Given the description of an element on the screen output the (x, y) to click on. 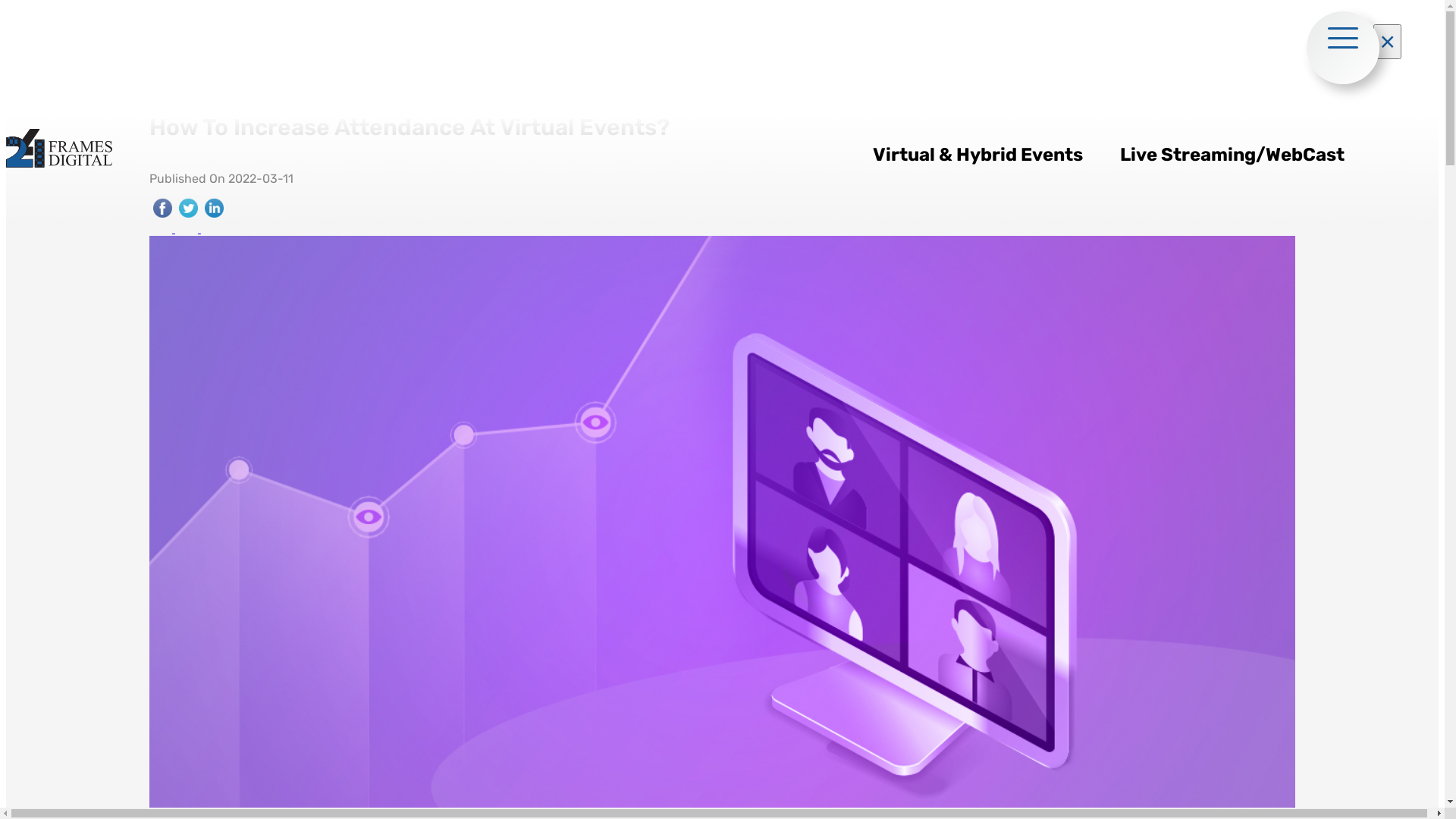
Virtual & Hybrid Events Element type: text (985, 154)
Live Streaming/WebCast Element type: text (1239, 154)
